Given the description of an element on the screen output the (x, y) to click on. 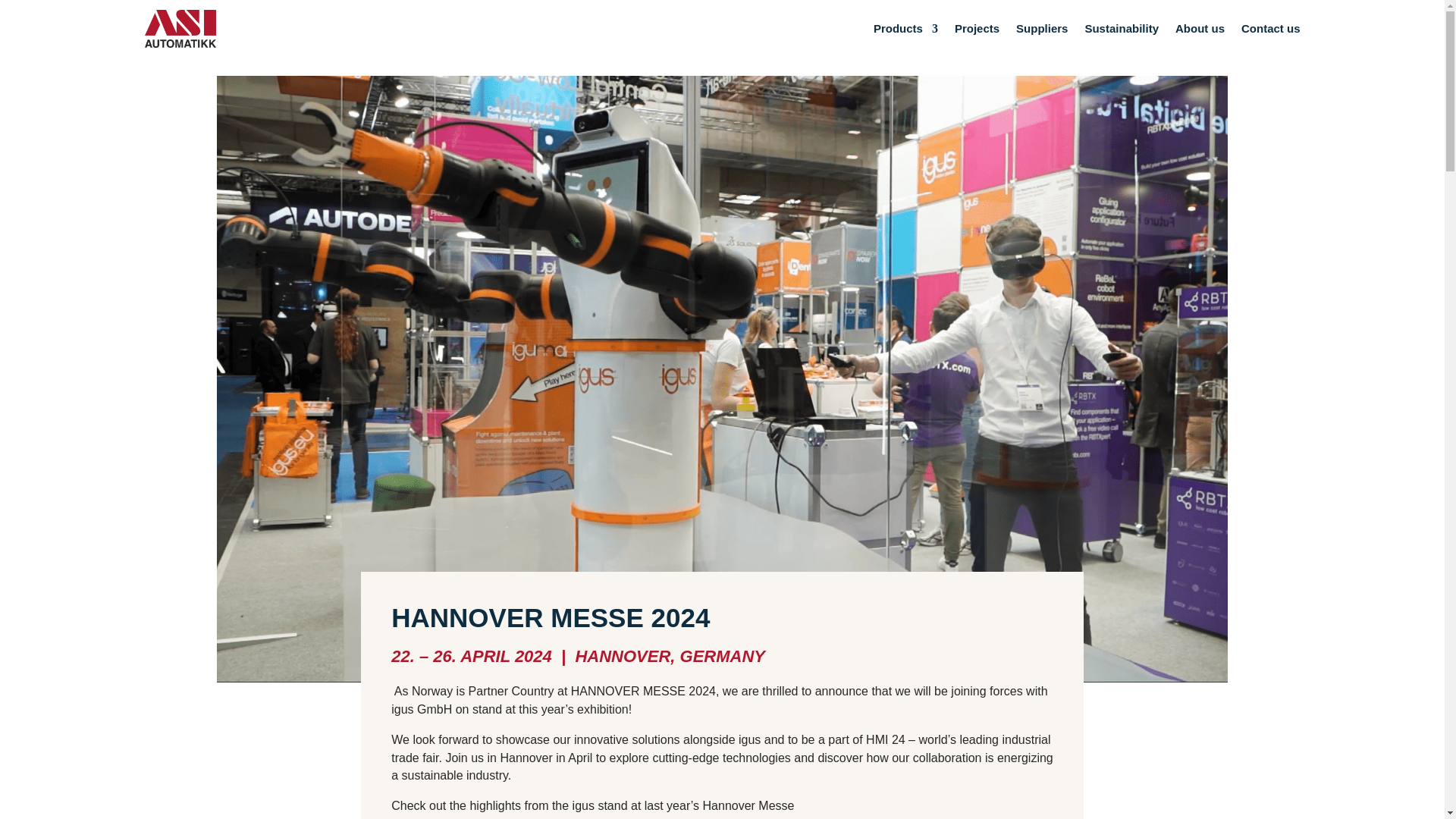
Suppliers (1041, 28)
Products (905, 28)
Contact us (1270, 28)
Sustainability (1121, 28)
